Given the description of an element on the screen output the (x, y) to click on. 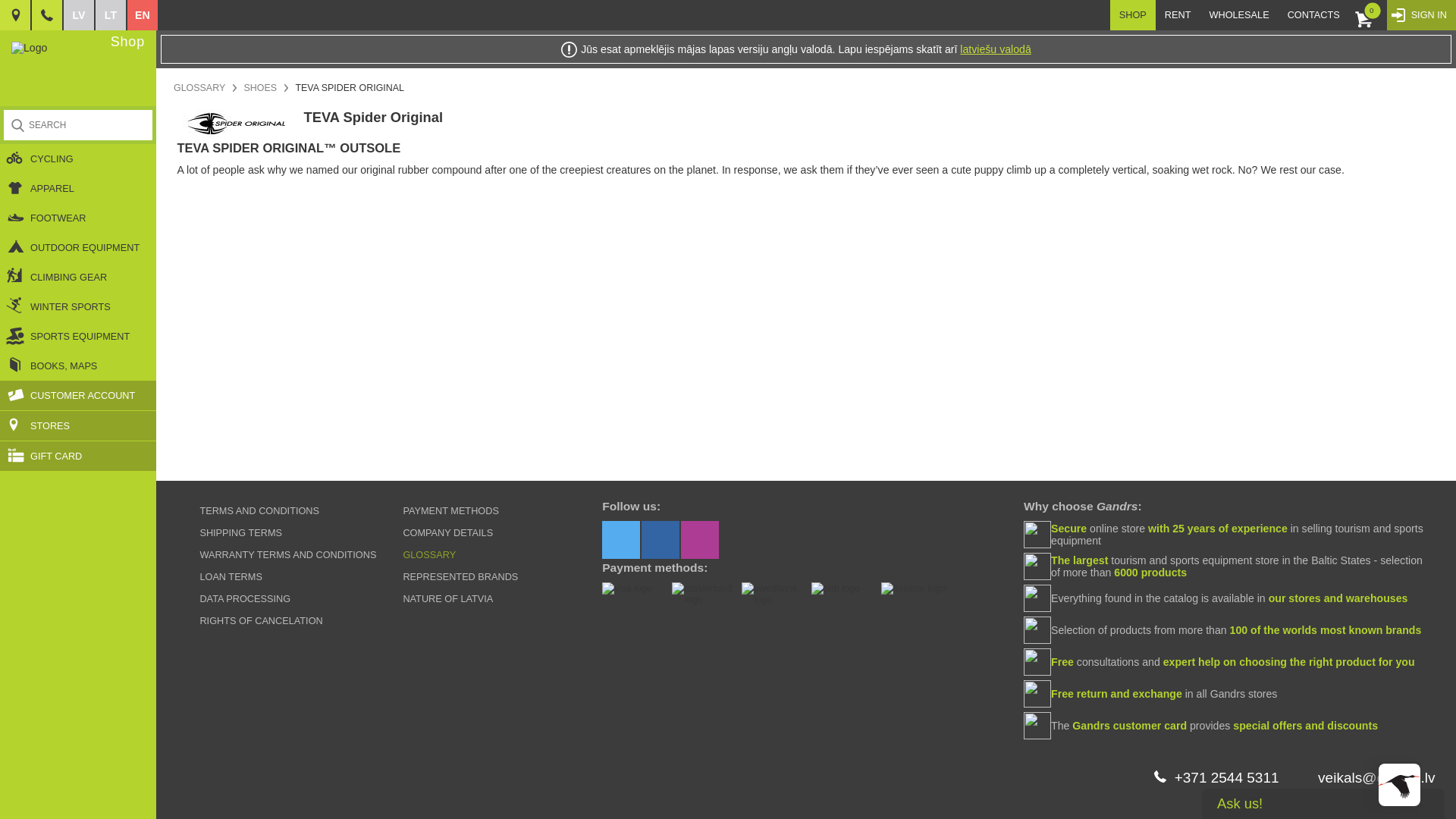
CYCLING (77, 158)
Instragram (700, 539)
SHOP (1132, 15)
0 (1368, 15)
Twitter (621, 539)
CONTACTS (1313, 15)
Contacts (15, 15)
EN (142, 15)
LV (79, 15)
Facebook (660, 539)
